Given the description of an element on the screen output the (x, y) to click on. 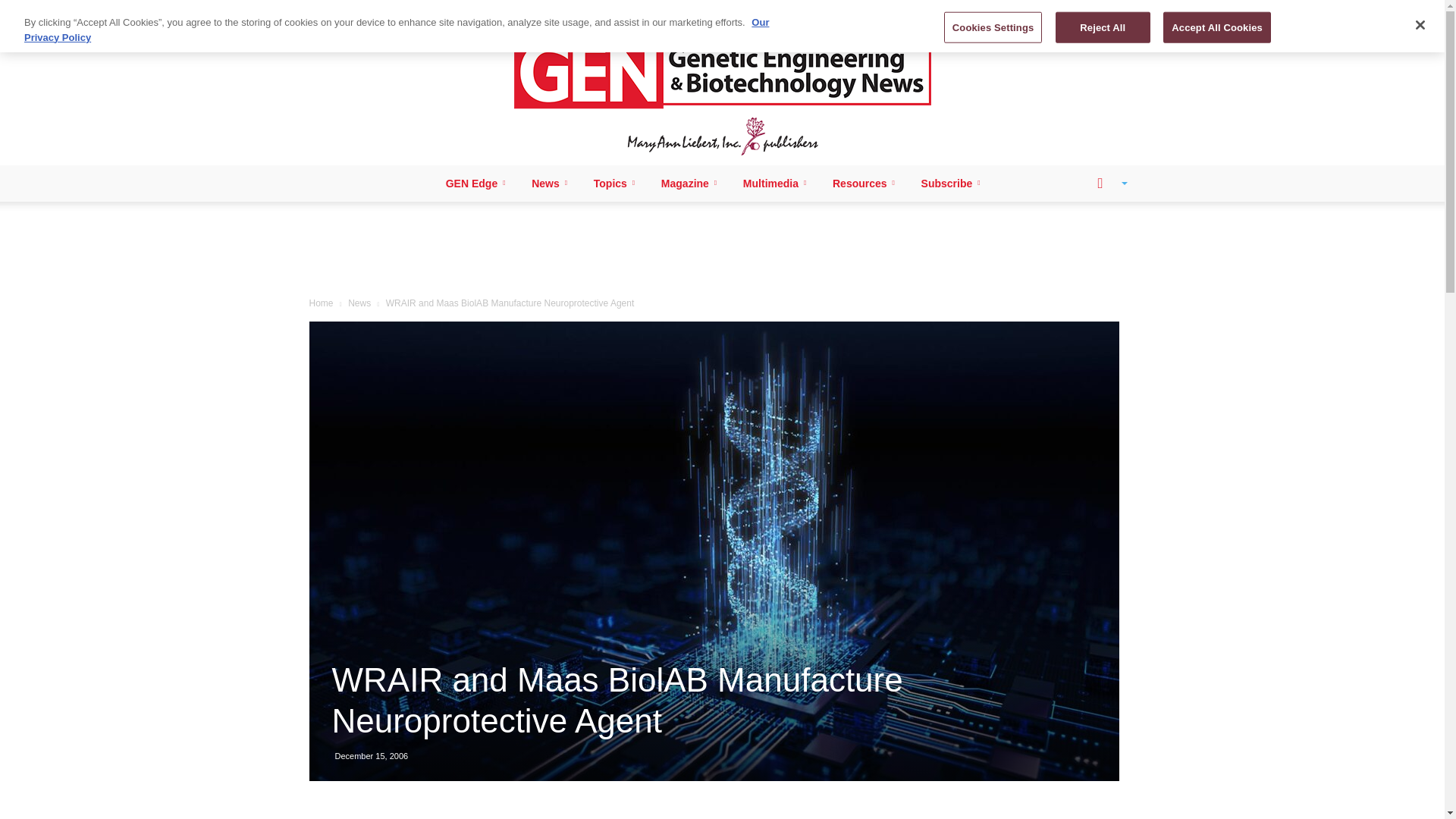
Youtube (429, 10)
View all posts in News (359, 303)
Linkedin (353, 10)
3rd party ad content (722, 251)
Twitter (403, 10)
Facebook (328, 10)
RSS (379, 10)
